Given the description of an element on the screen output the (x, y) to click on. 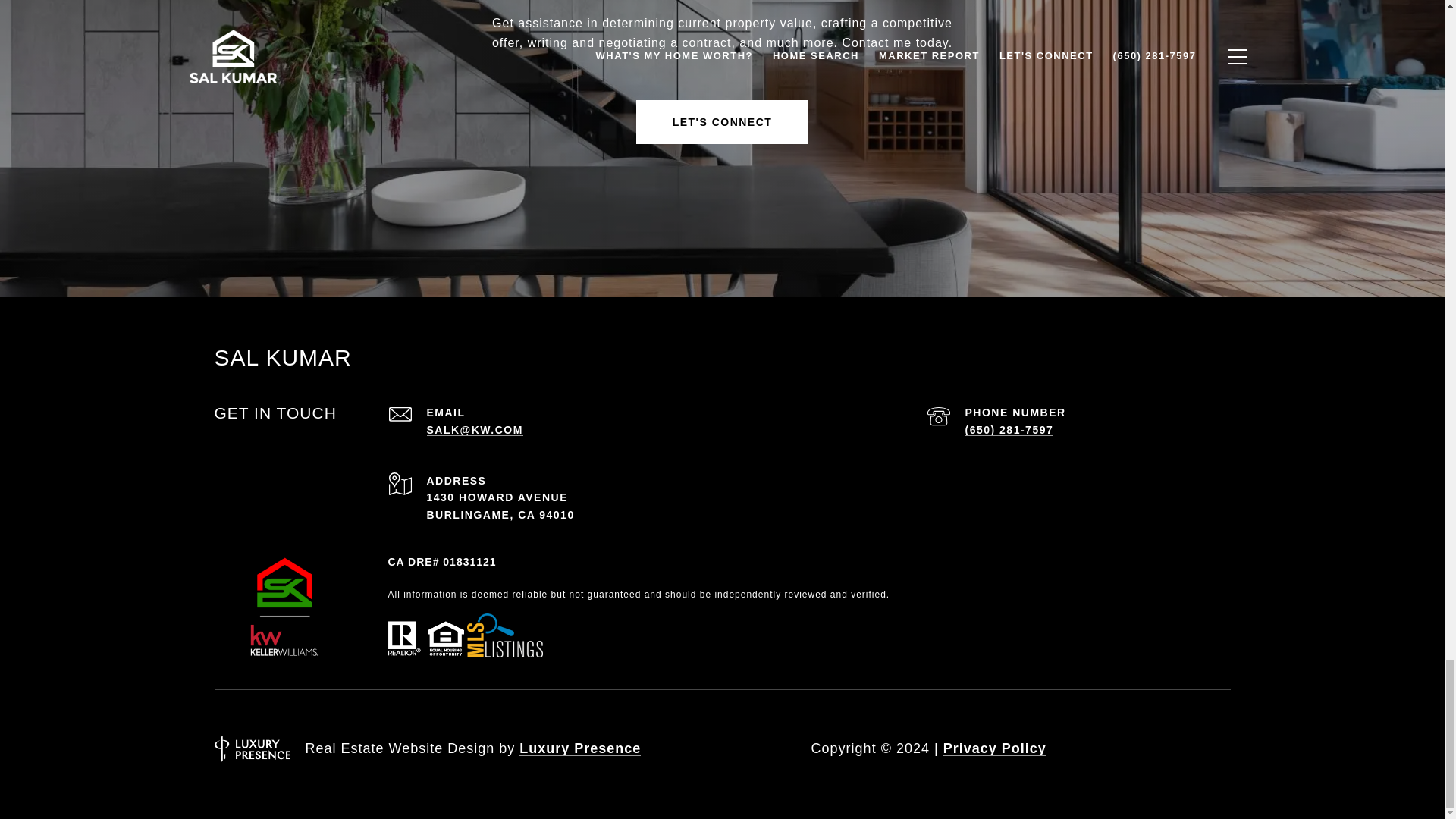
LET'S CONNECT (722, 121)
